Given the description of an element on the screen output the (x, y) to click on. 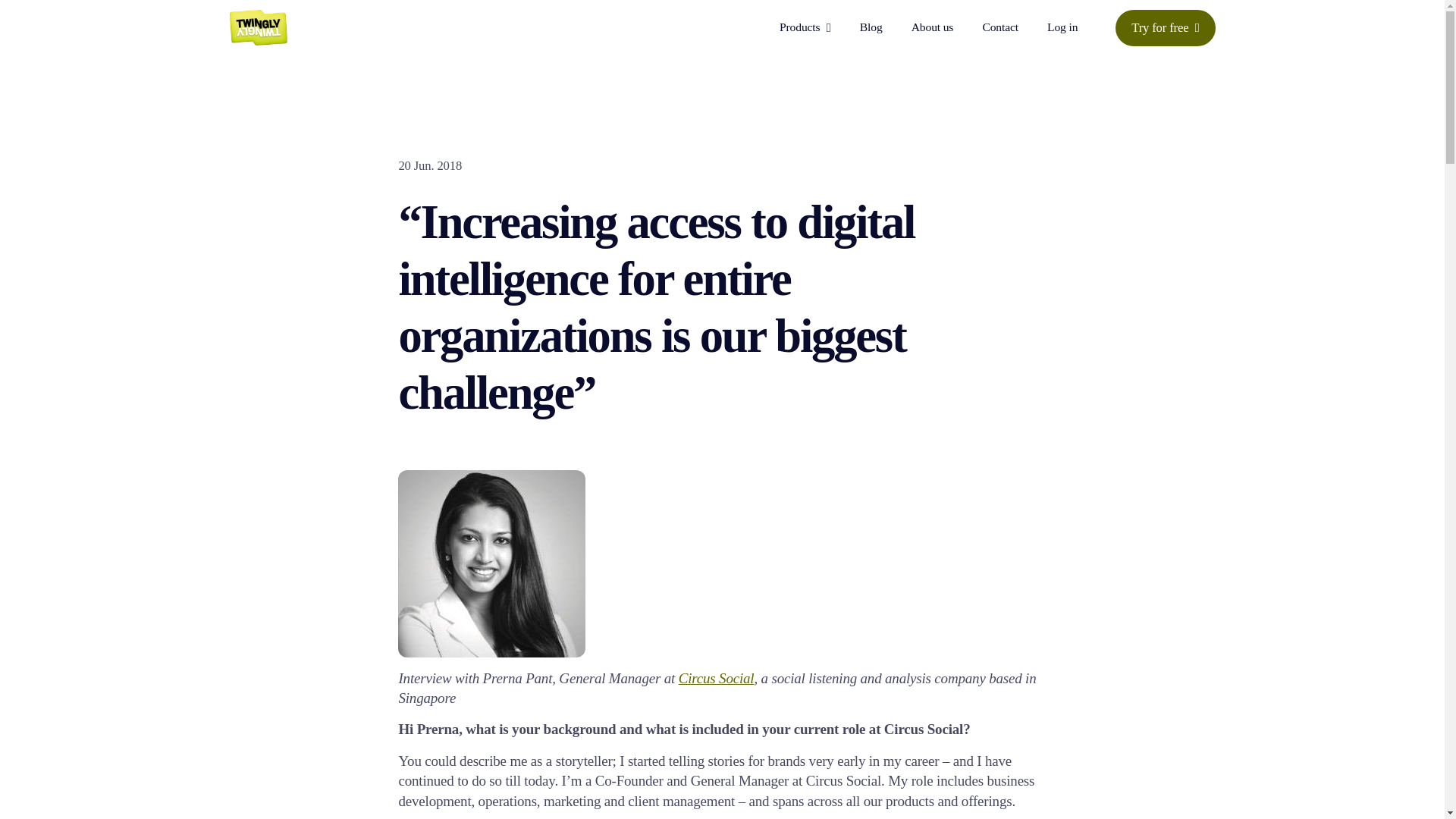
Circus Social (716, 678)
Products (805, 27)
Log in (1061, 28)
Try for free (1164, 27)
About us (932, 28)
Contact (999, 28)
Blog (871, 28)
